Given the description of an element on the screen output the (x, y) to click on. 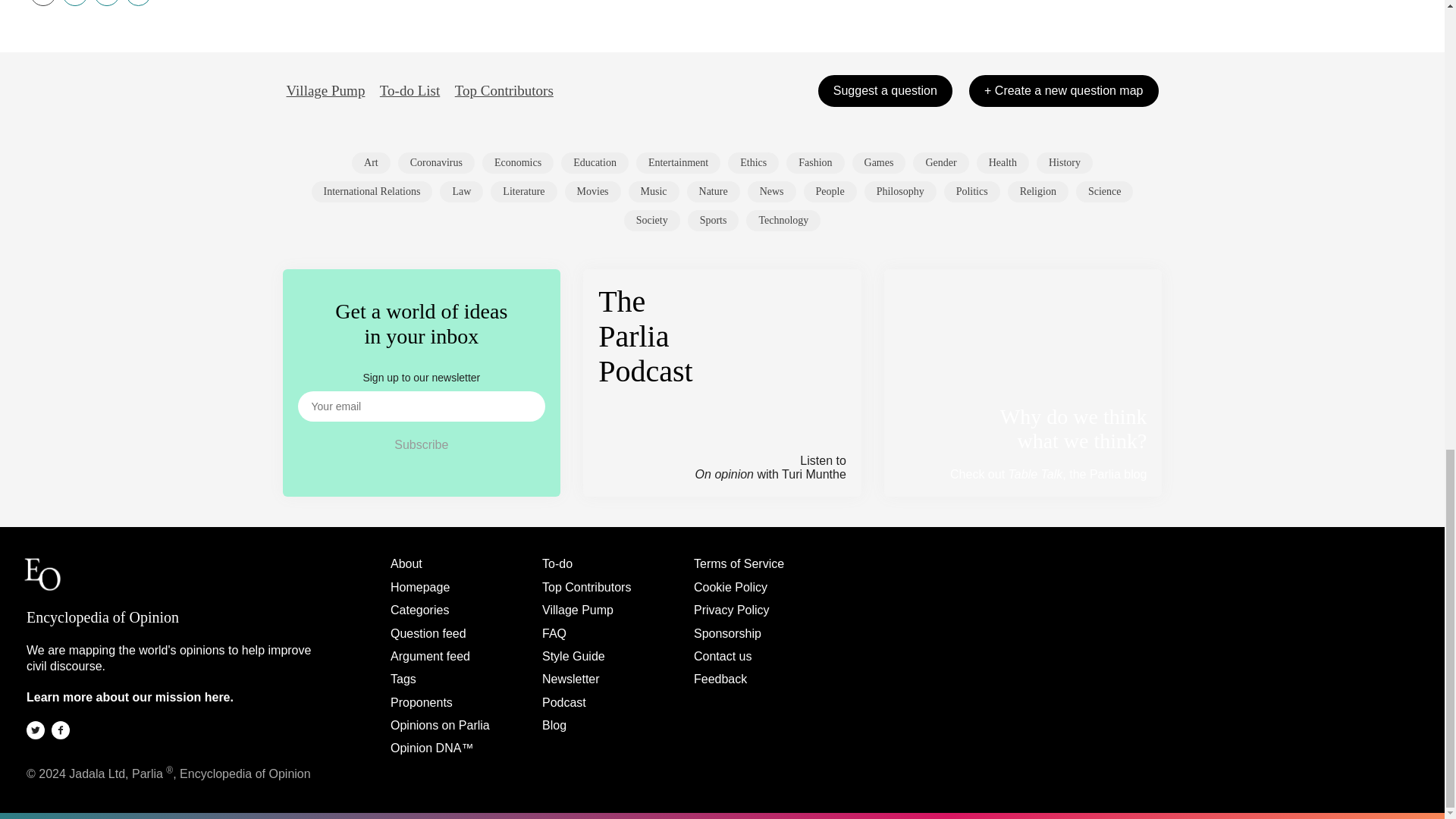
Category item (461, 191)
Village Pump (325, 90)
Category item (592, 191)
Top Contributors (503, 90)
Category item (940, 162)
Category item (815, 162)
Category item (1002, 162)
Category item (371, 191)
Category item (517, 162)
Category item (523, 191)
